Given the description of an element on the screen output the (x, y) to click on. 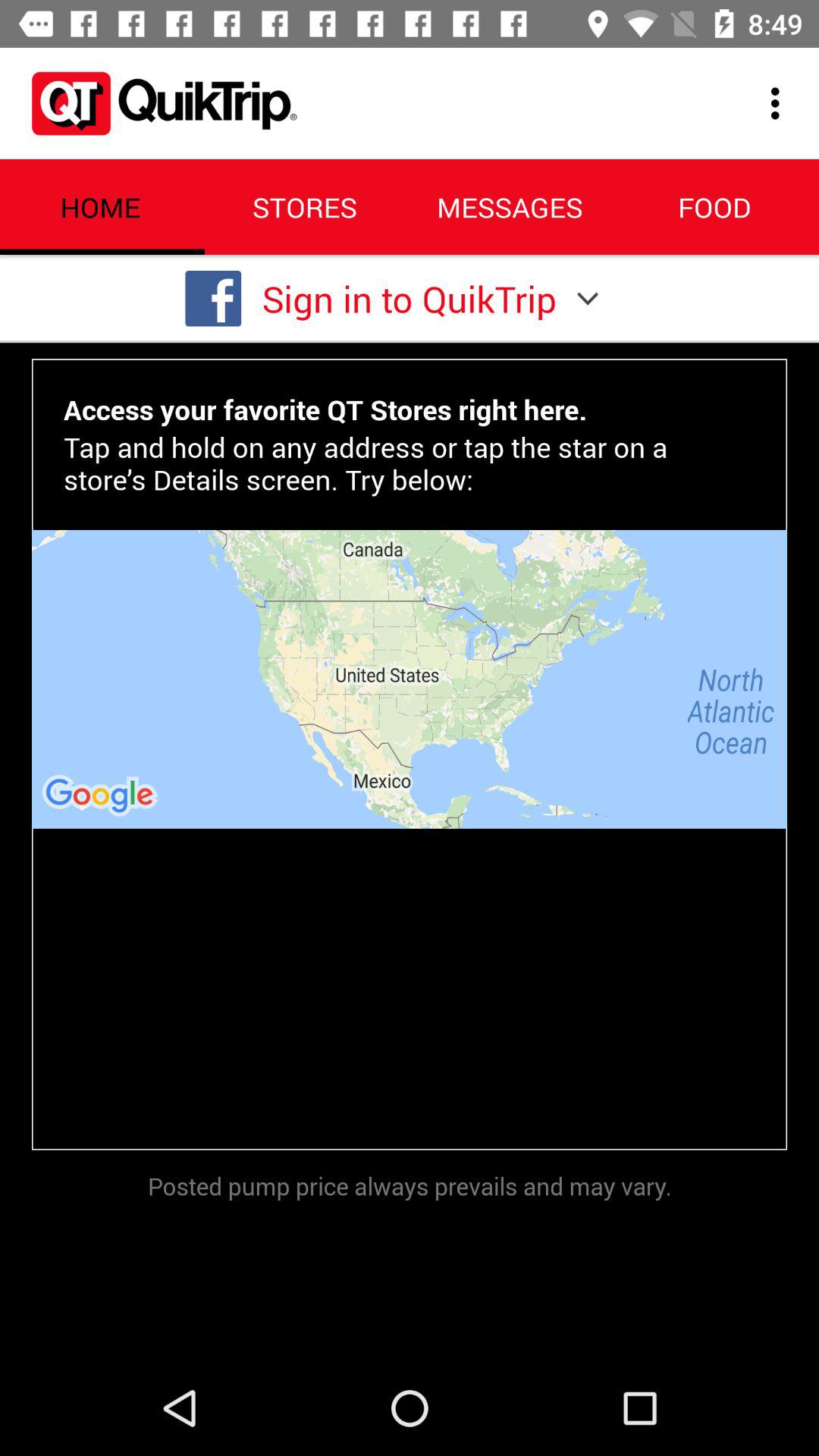
press icon below the tap and hold item (409, 679)
